Given the description of an element on the screen output the (x, y) to click on. 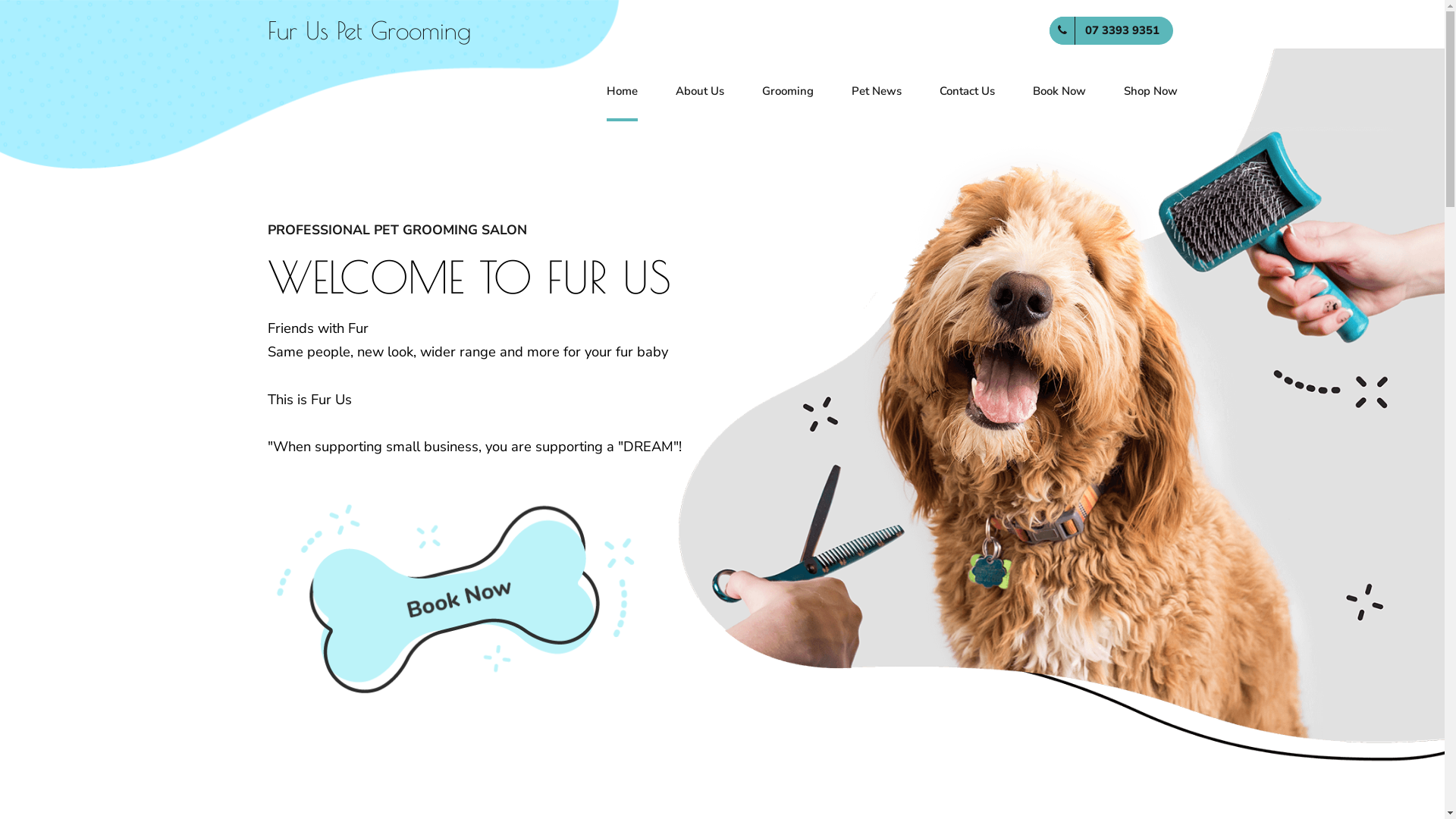
Pawsitive Element type: hover (1047, 411)
Fur Us Pet Grooming Element type: text (368, 29)
Shop Now Element type: text (1150, 90)
Book Now Element type: text (1058, 90)
07 3393 9351 Element type: text (1111, 30)
Book Now Element type: hover (456, 591)
Contact Us Element type: text (966, 90)
About Us Element type: text (698, 90)
Pet News Element type: text (875, 90)
Grooming Element type: text (786, 90)
Home Element type: text (621, 90)
